Given the description of an element on the screen output the (x, y) to click on. 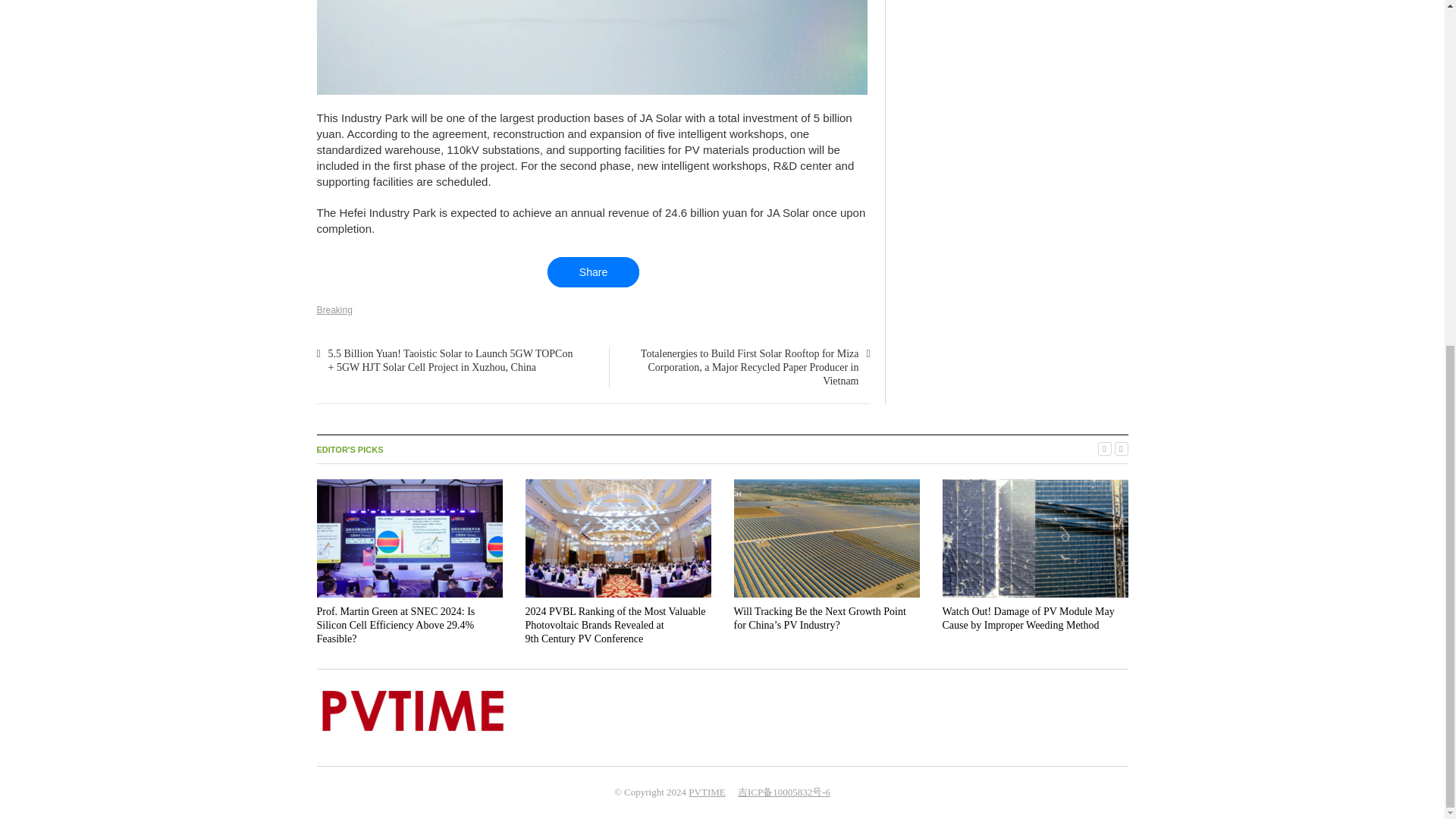
Share (593, 272)
Breaking (334, 309)
